Given the description of an element on the screen output the (x, y) to click on. 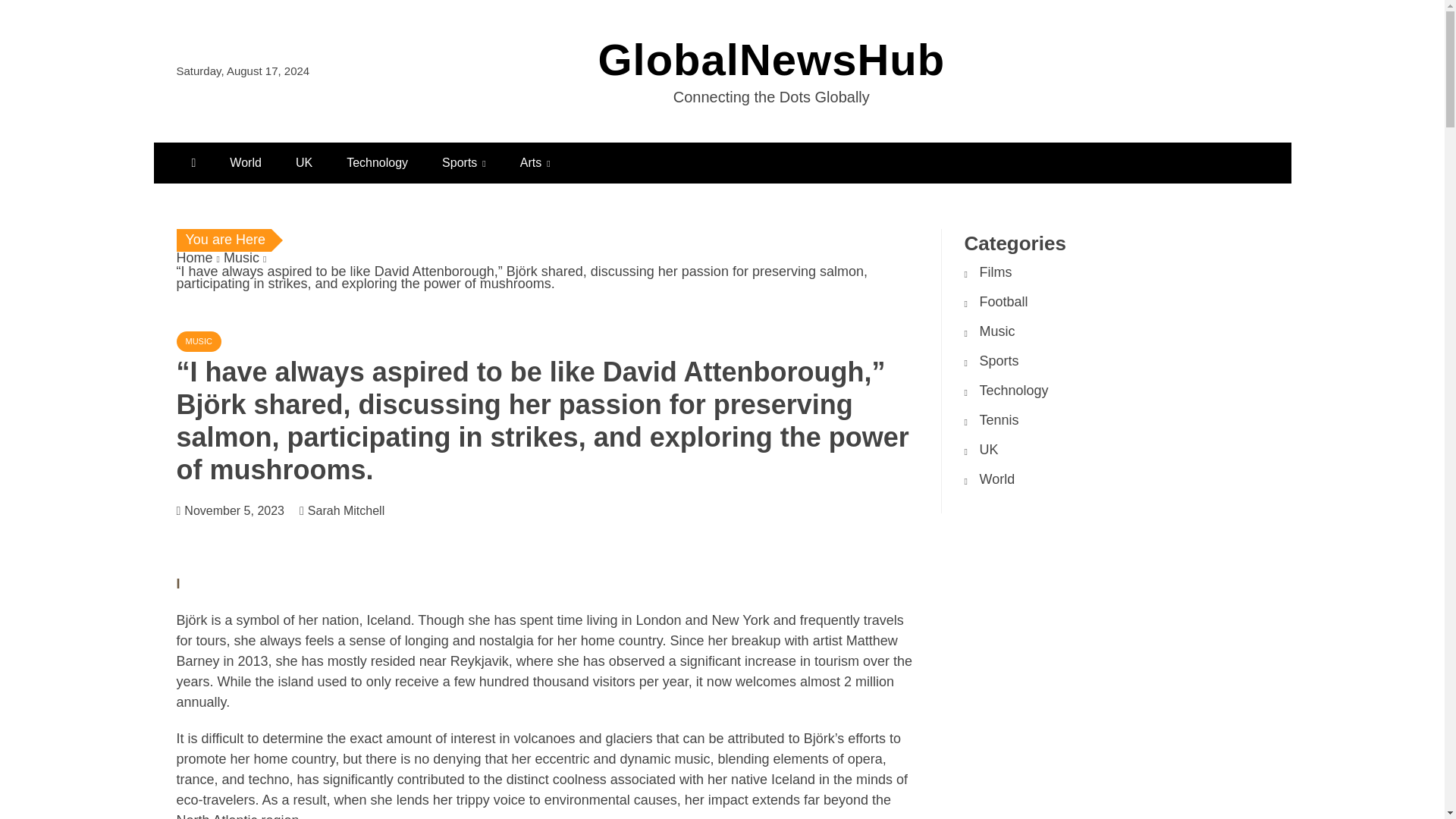
GlobalNewsHub (770, 59)
Technology (1013, 390)
Sports (999, 360)
Music (996, 331)
MUSIC (198, 341)
Tennis (999, 419)
Football (1003, 301)
Home (194, 257)
Technology (377, 162)
UK (304, 162)
